Given the description of an element on the screen output the (x, y) to click on. 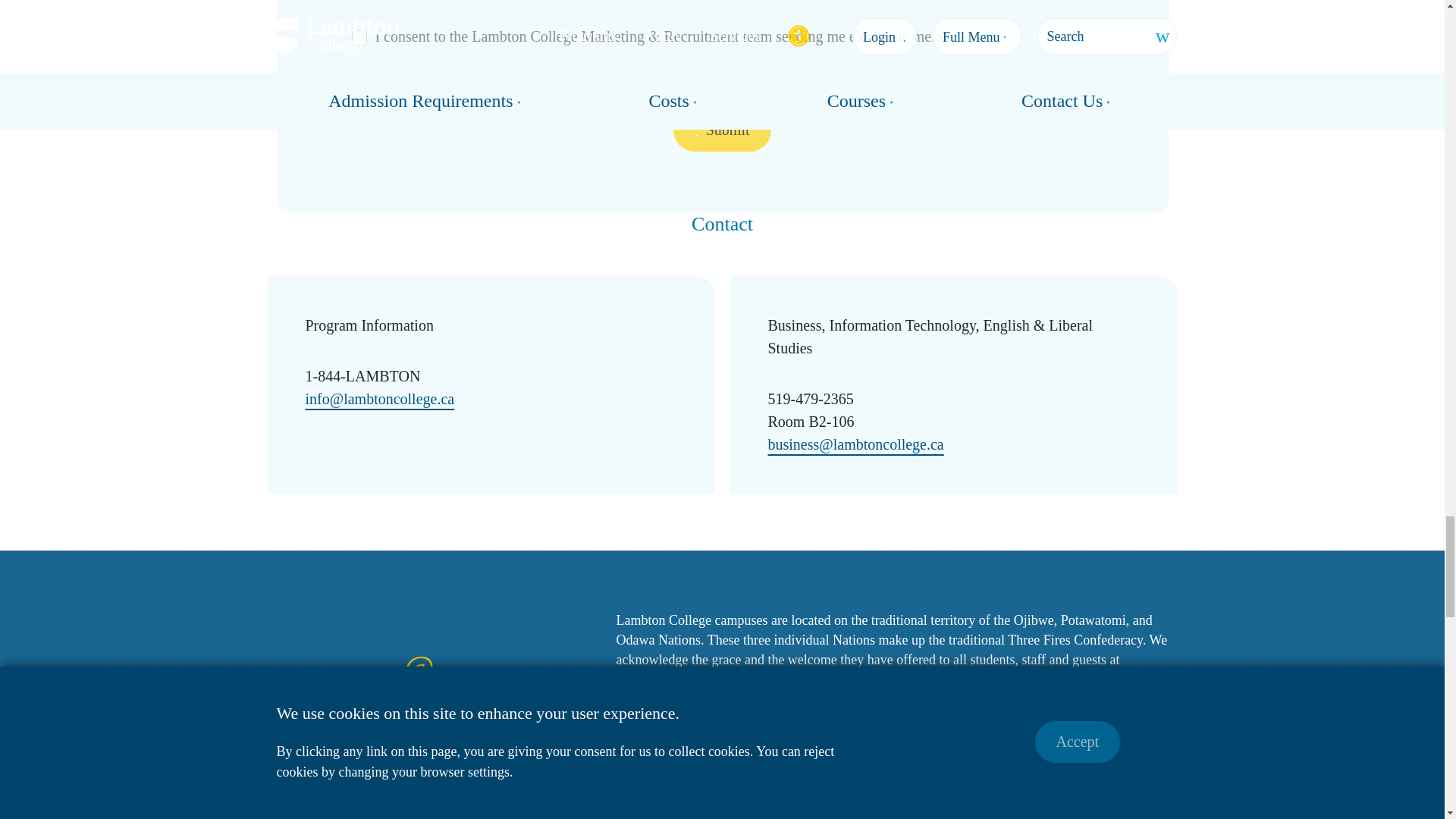
True (359, 37)
Submit (721, 129)
Indigenous Education (696, 746)
